Given the description of an element on the screen output the (x, y) to click on. 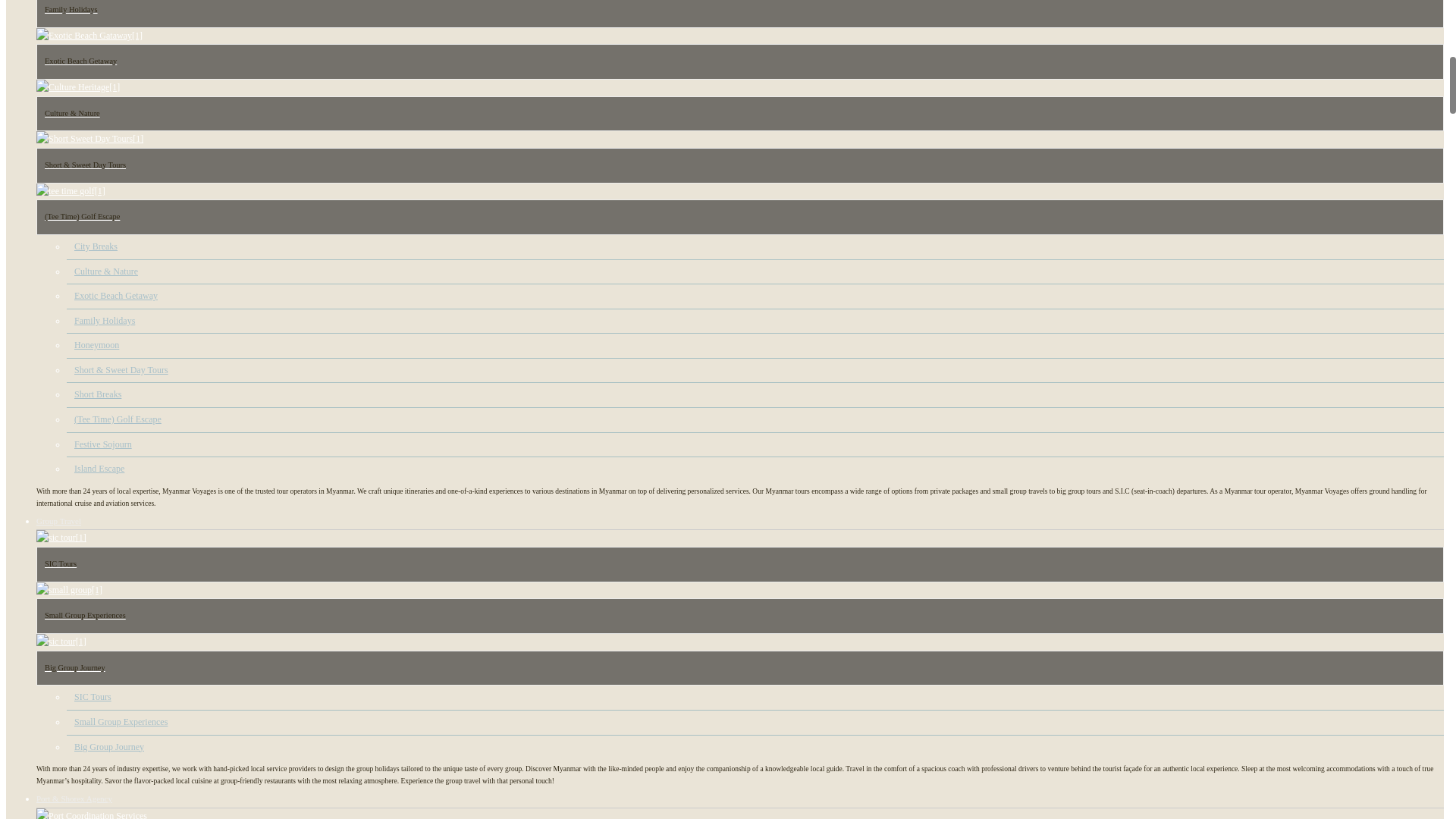
City Breaks (95, 245)
Exotic Beach Getaway (115, 295)
Family Holidays (104, 320)
Honeymoon (96, 344)
Short Breaks (97, 394)
